Given the description of an element on the screen output the (x, y) to click on. 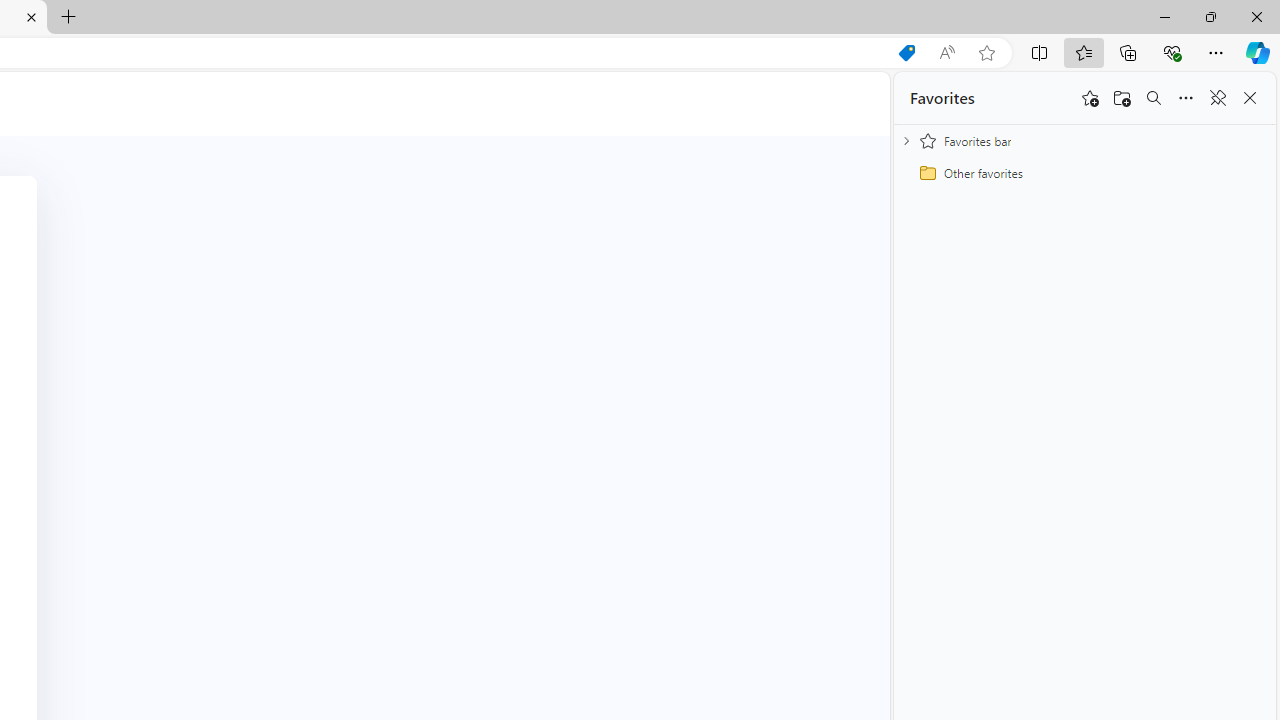
Add folder (1122, 98)
Search favorites (1153, 98)
Add this page to favorites (1089, 98)
Close favorites (1250, 98)
